Given the description of an element on the screen output the (x, y) to click on. 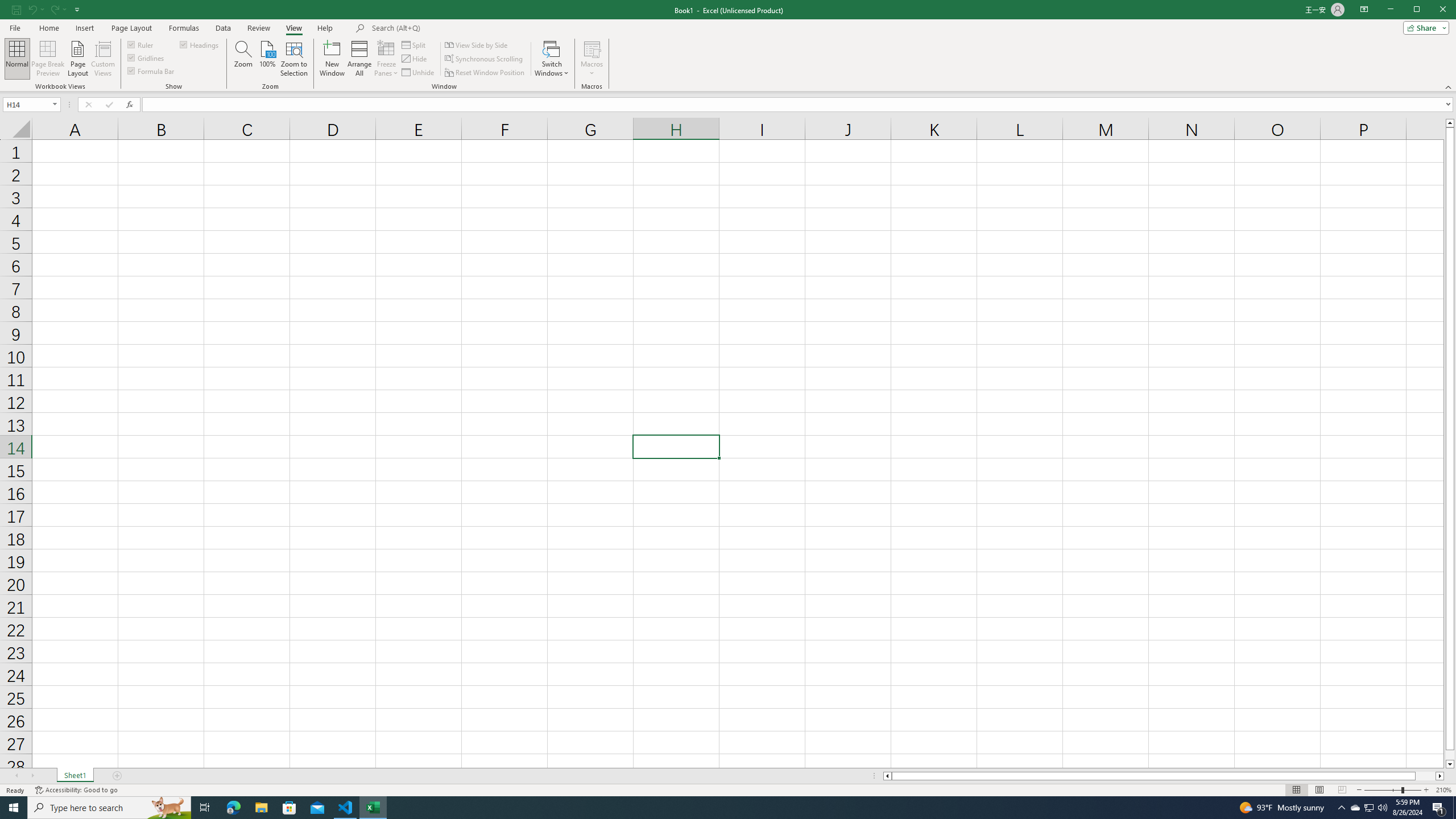
Synchronous Scrolling (484, 58)
Ruler (141, 44)
View Side by Side (476, 44)
Zoom to Selection (293, 58)
